Given the description of an element on the screen output the (x, y) to click on. 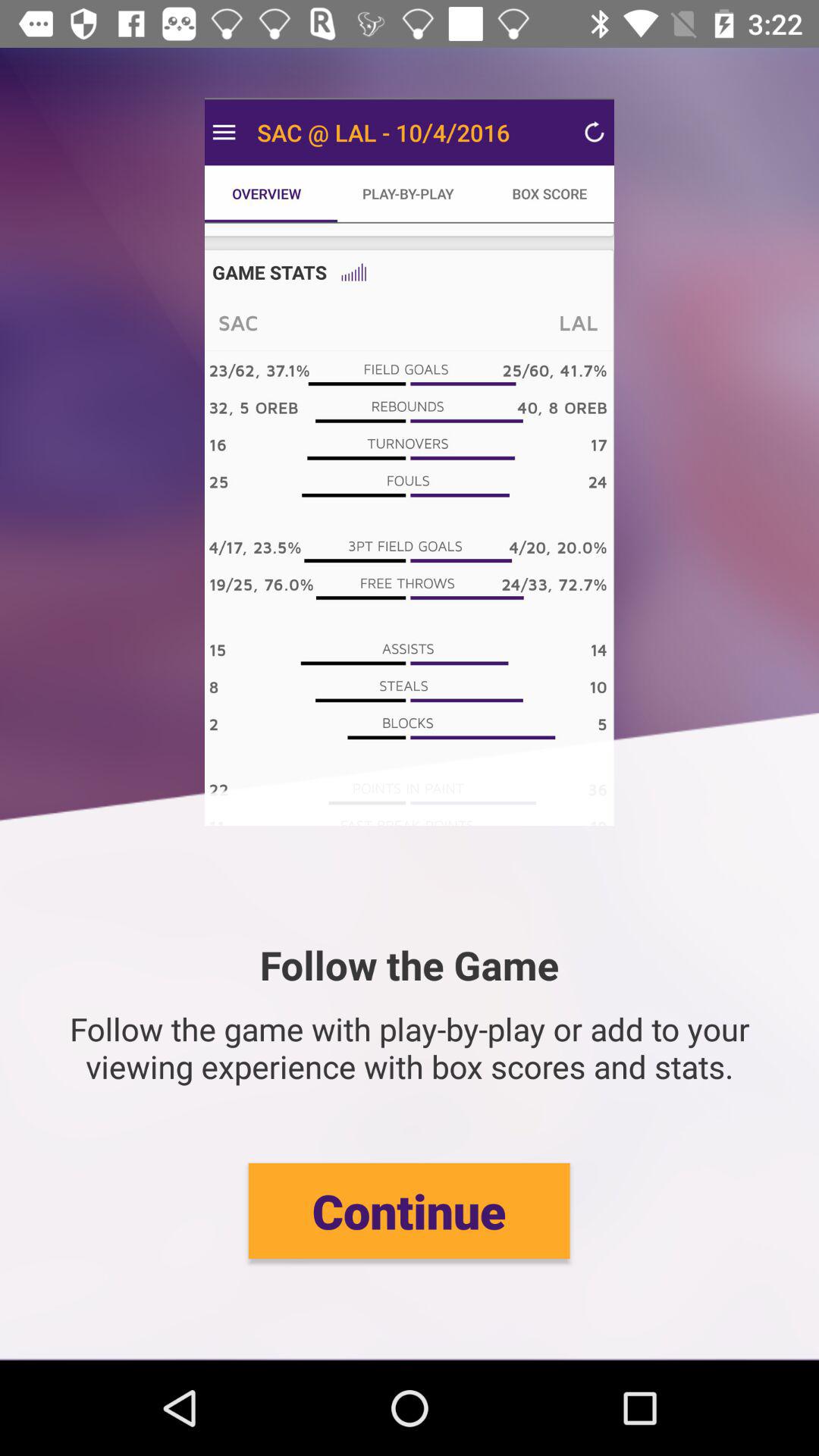
jump until continue (408, 1210)
